Given the description of an element on the screen output the (x, y) to click on. 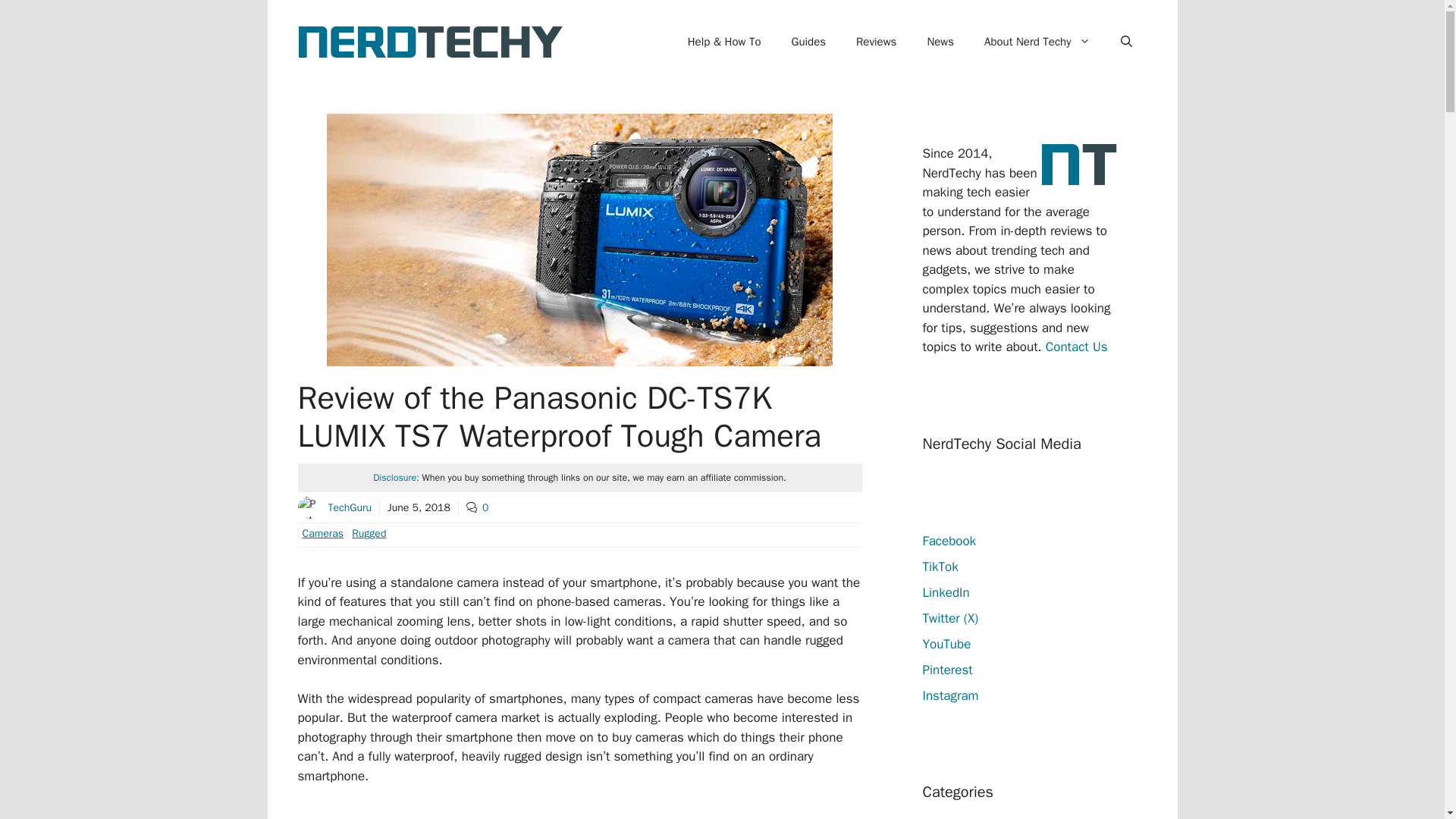
Reviews (876, 41)
Disclosure: (395, 477)
About Nerd Techy (1037, 41)
Rugged (366, 533)
Cameras (320, 533)
TechGuru (349, 507)
News (940, 41)
Guides (808, 41)
